Given the description of an element on the screen output the (x, y) to click on. 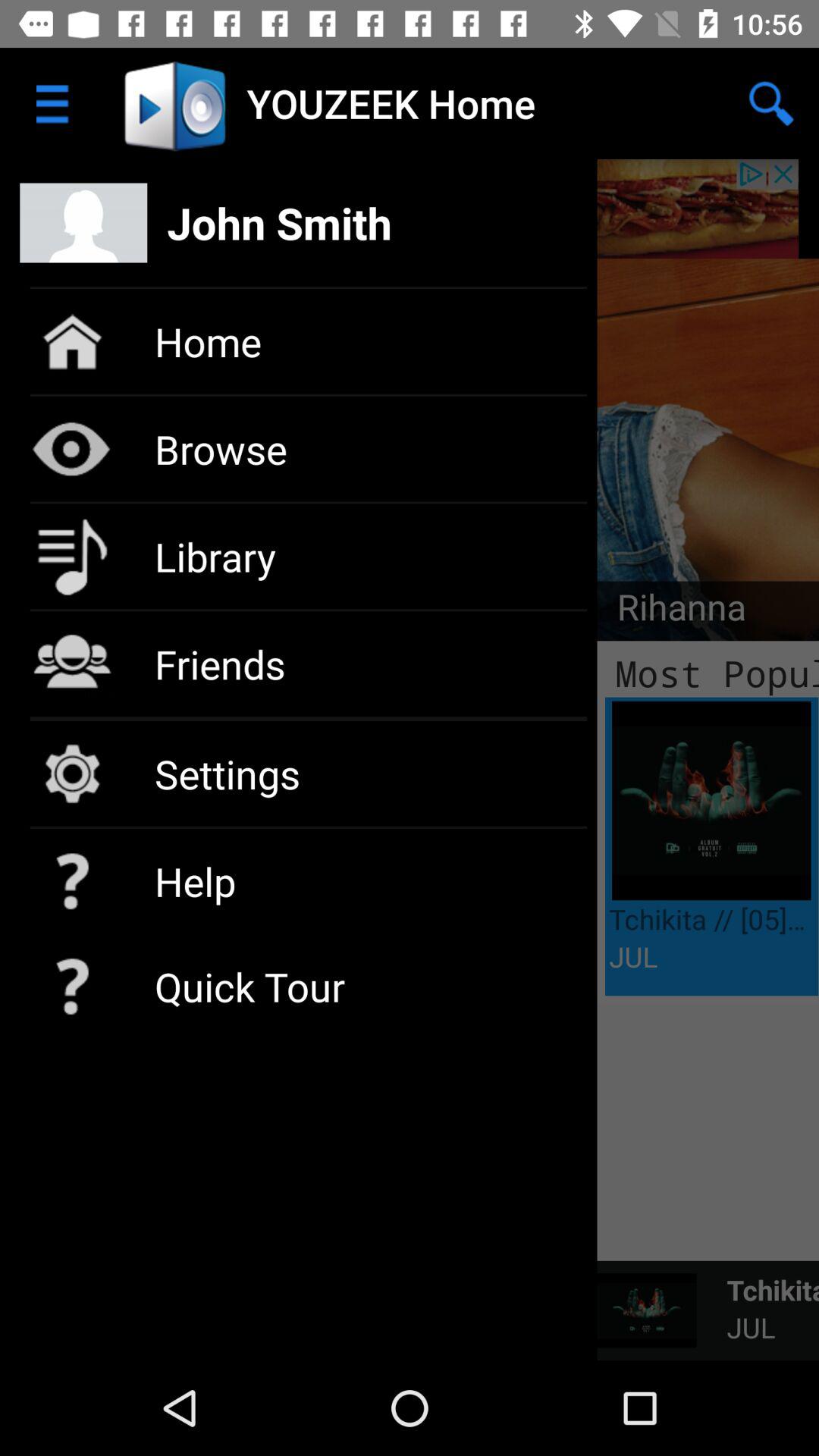
launch the icon next to john smith (771, 103)
